Given the description of an element on the screen output the (x, y) to click on. 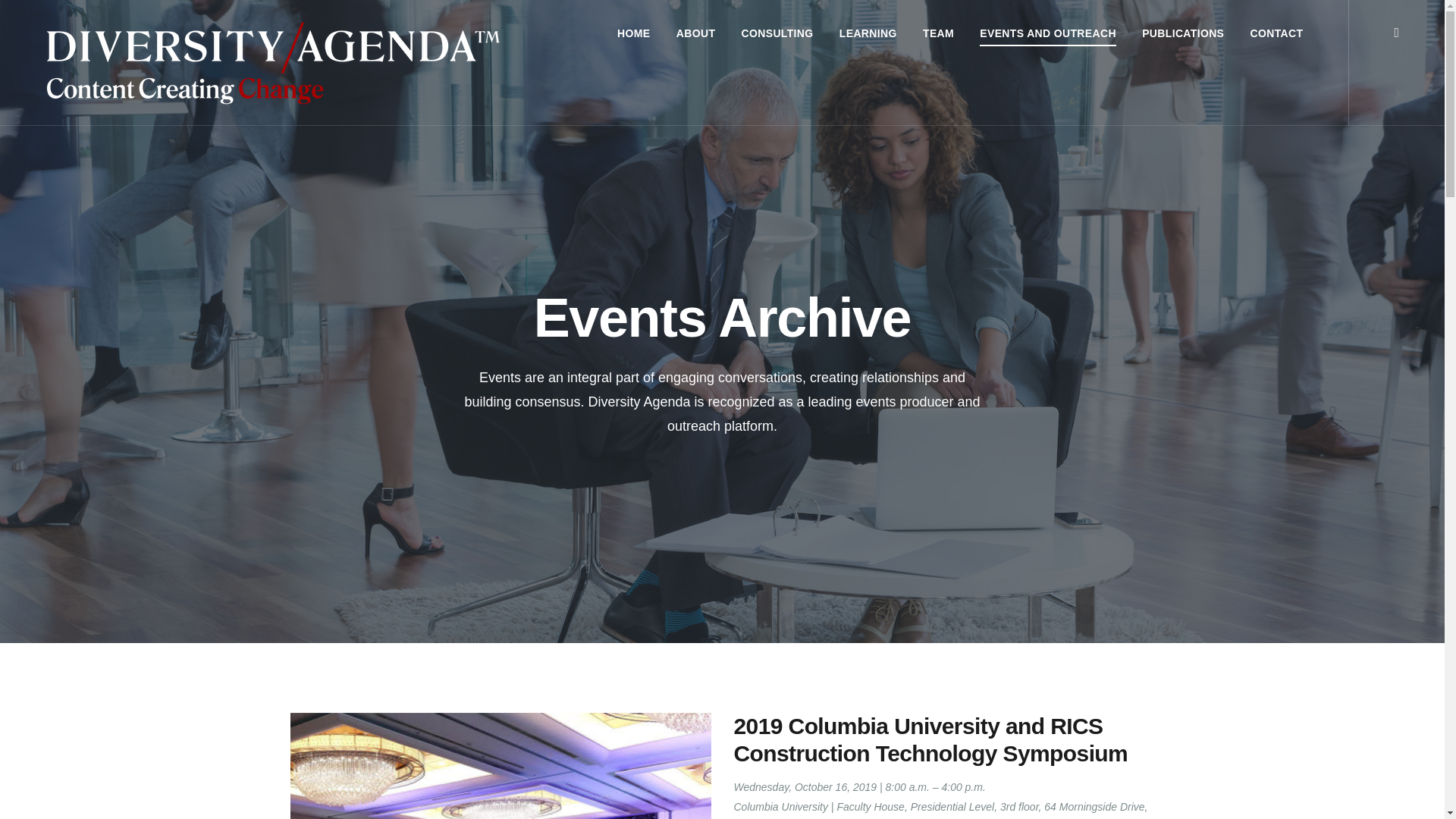
HOME (633, 33)
EVENTS AND OUTREACH (1047, 33)
TEAM (938, 33)
LEARNING (868, 33)
ABOUT (696, 33)
CONSULTING (777, 33)
